Given the description of an element on the screen output the (x, y) to click on. 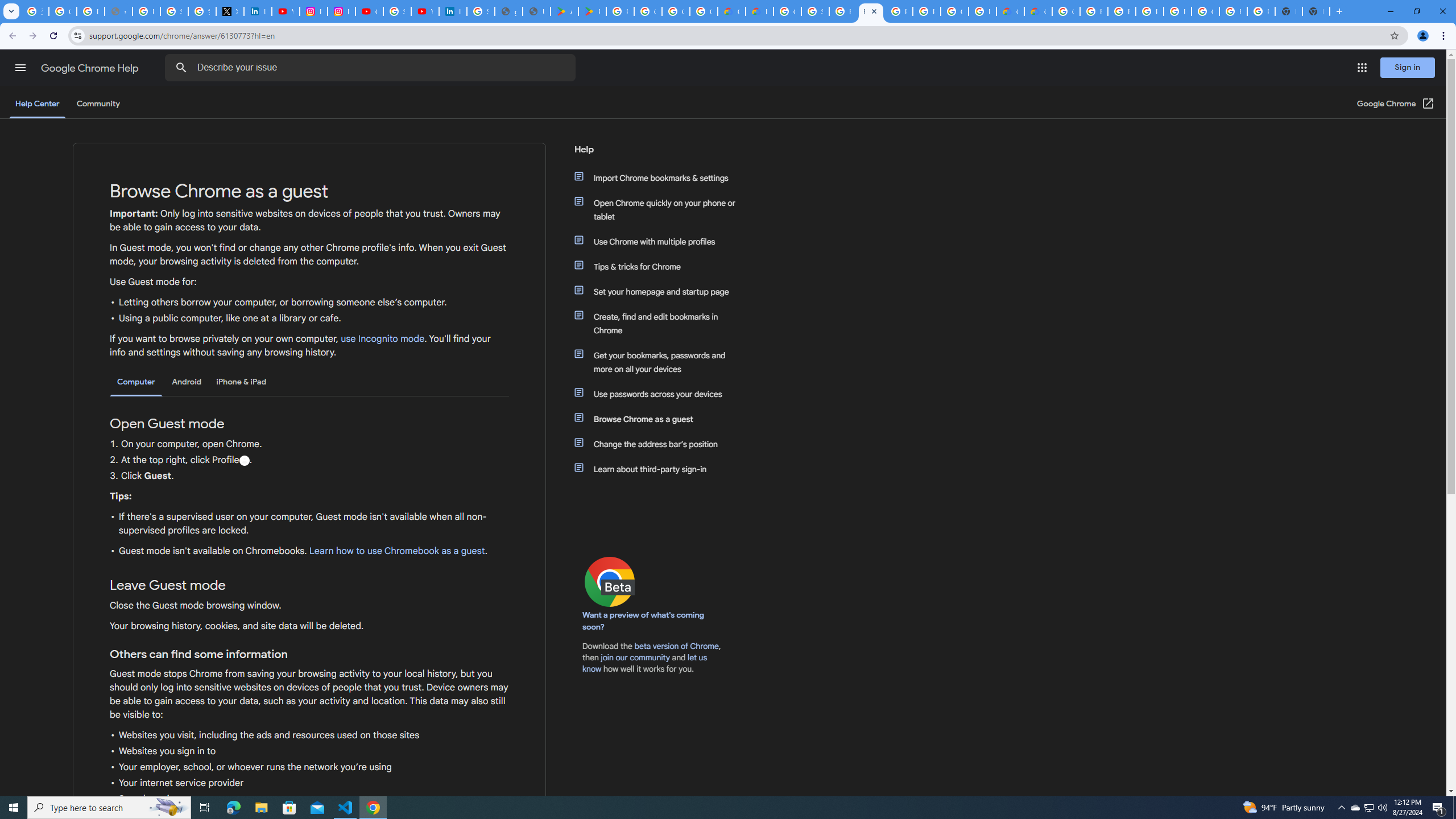
Describe your issue (371, 67)
Customer Care | Google Cloud (731, 11)
Browse Chrome as a guest - Computer - Google Chrome Help (1093, 11)
iPhone & iPad (240, 381)
